Given the description of an element on the screen output the (x, y) to click on. 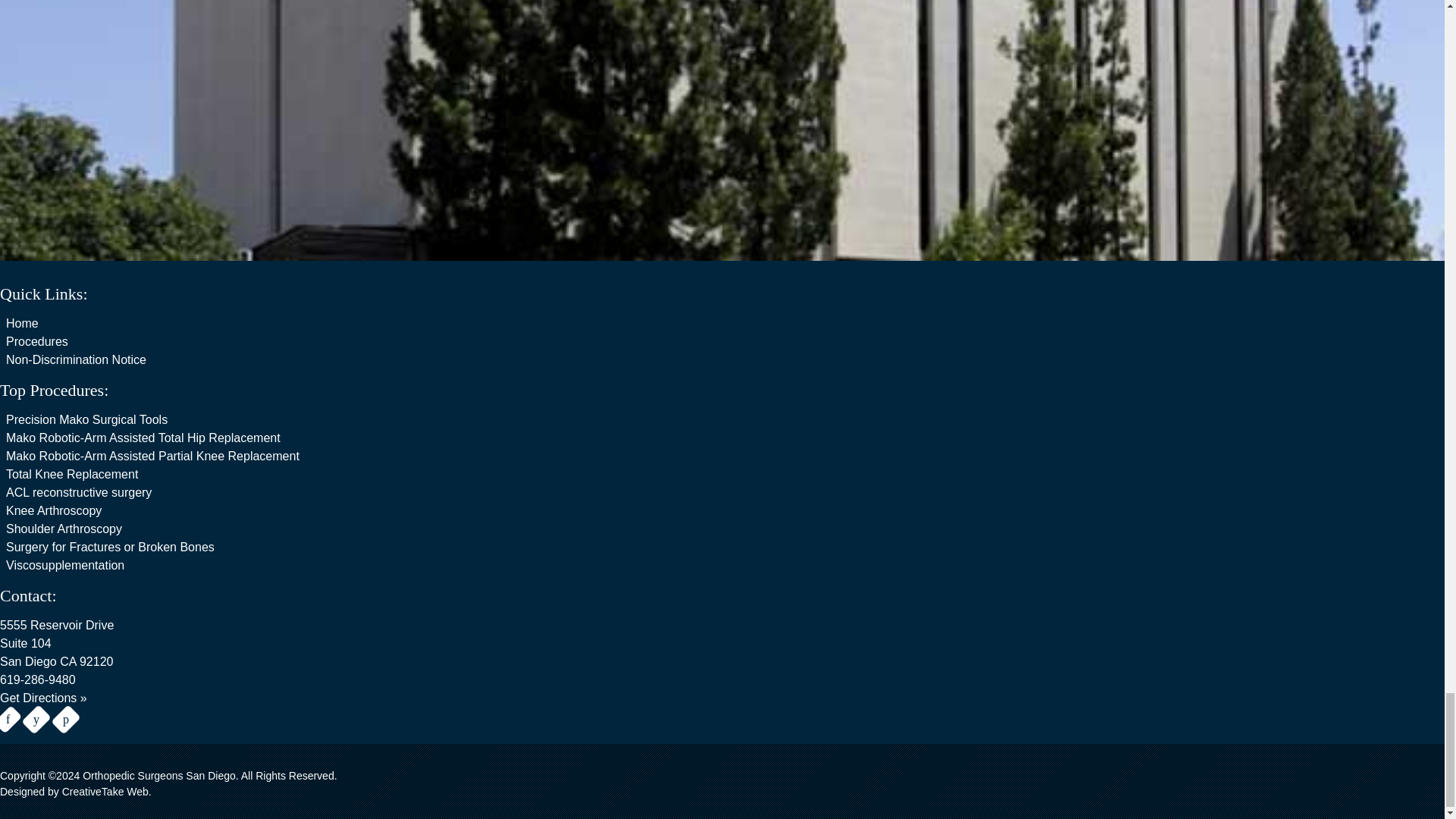
Orthopedic Surgeons San Diego. (159, 775)
CreativeTake Medical (106, 791)
